Given the description of an element on the screen output the (x, y) to click on. 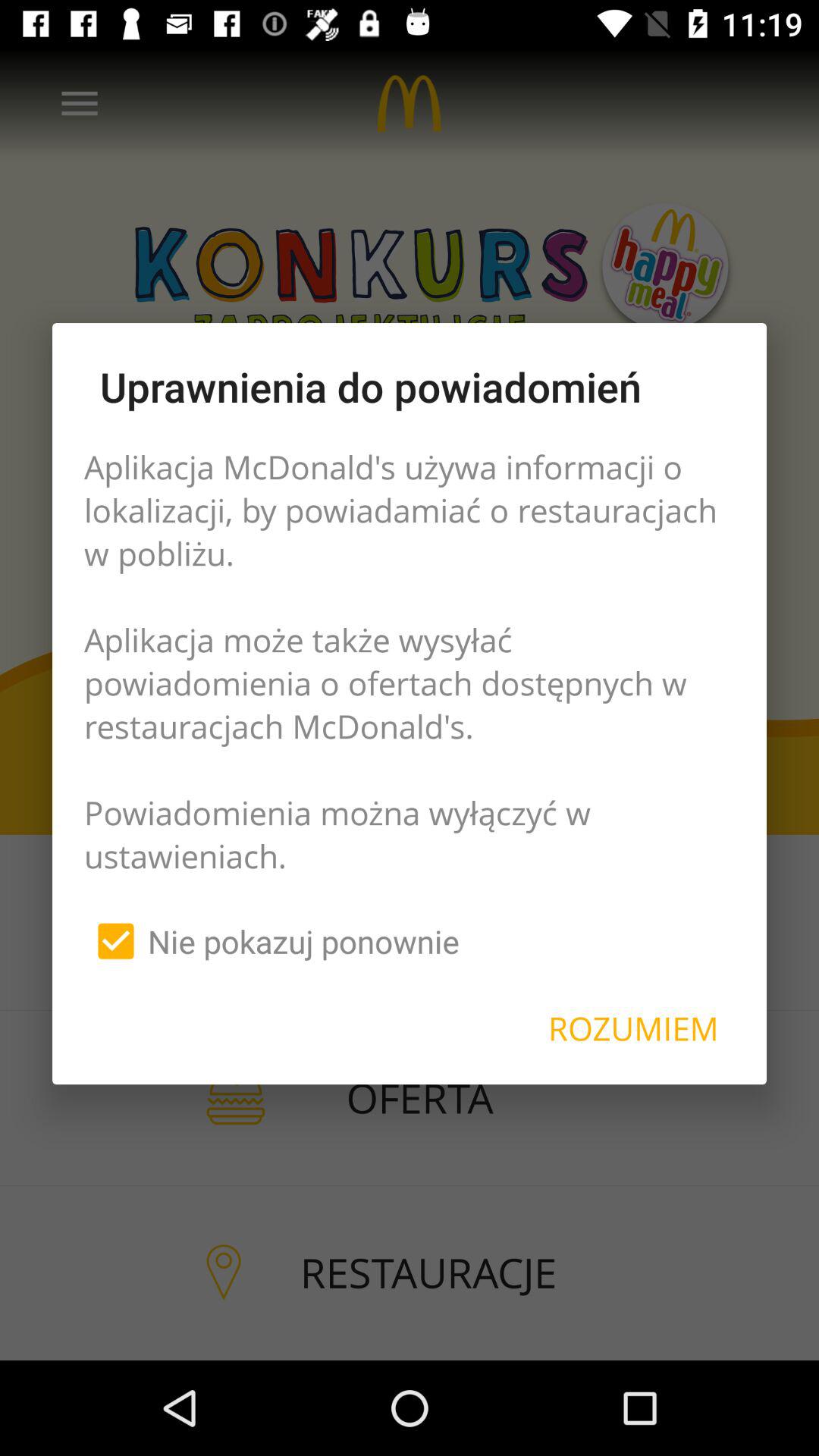
turn on item next to rozumiem icon (271, 941)
